Given the description of an element on the screen output the (x, y) to click on. 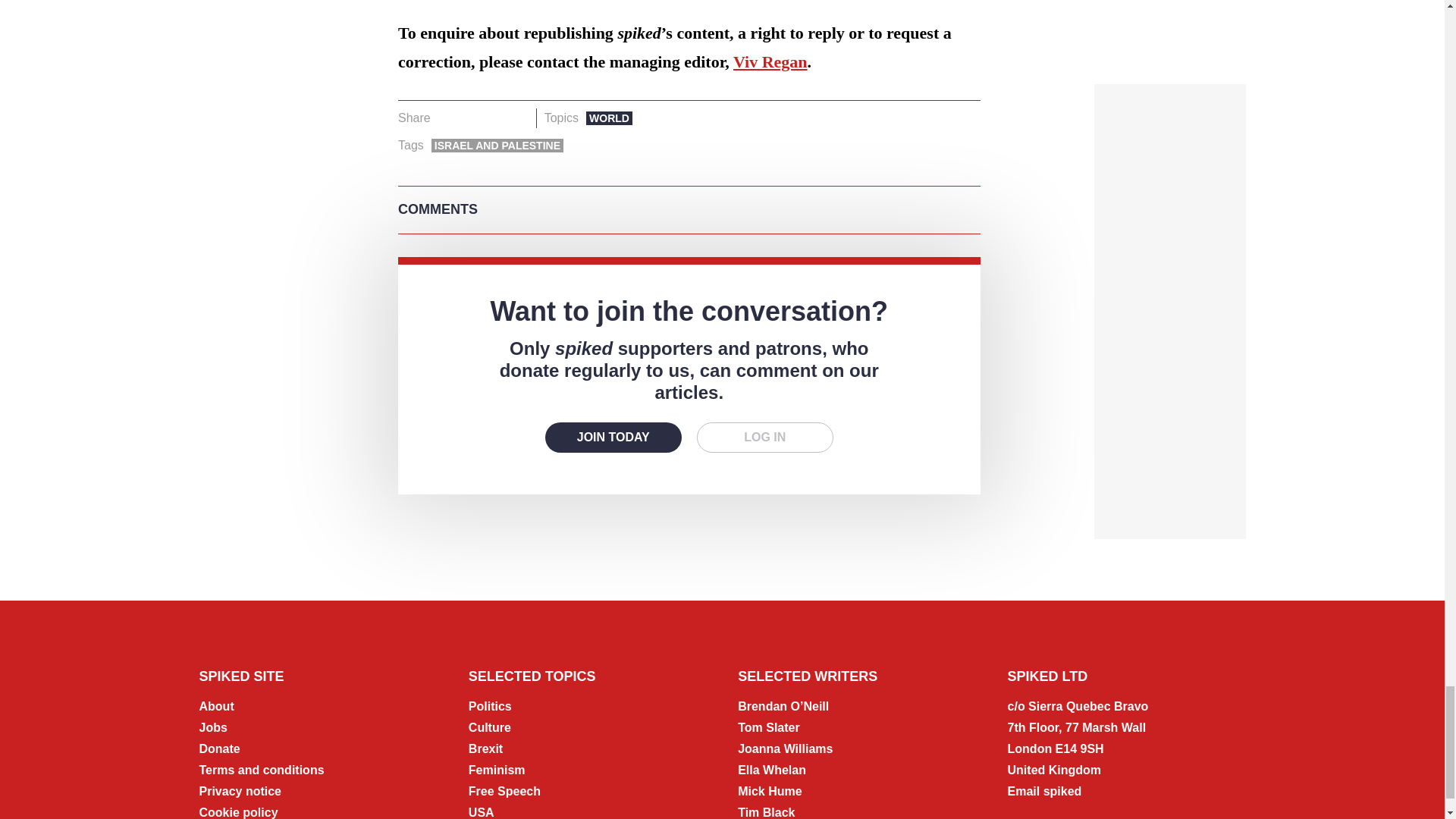
Share on Facebook (448, 117)
Share on Email (518, 117)
Share on Whatsapp (494, 117)
Share on Twitter (471, 117)
